Given the description of an element on the screen output the (x, y) to click on. 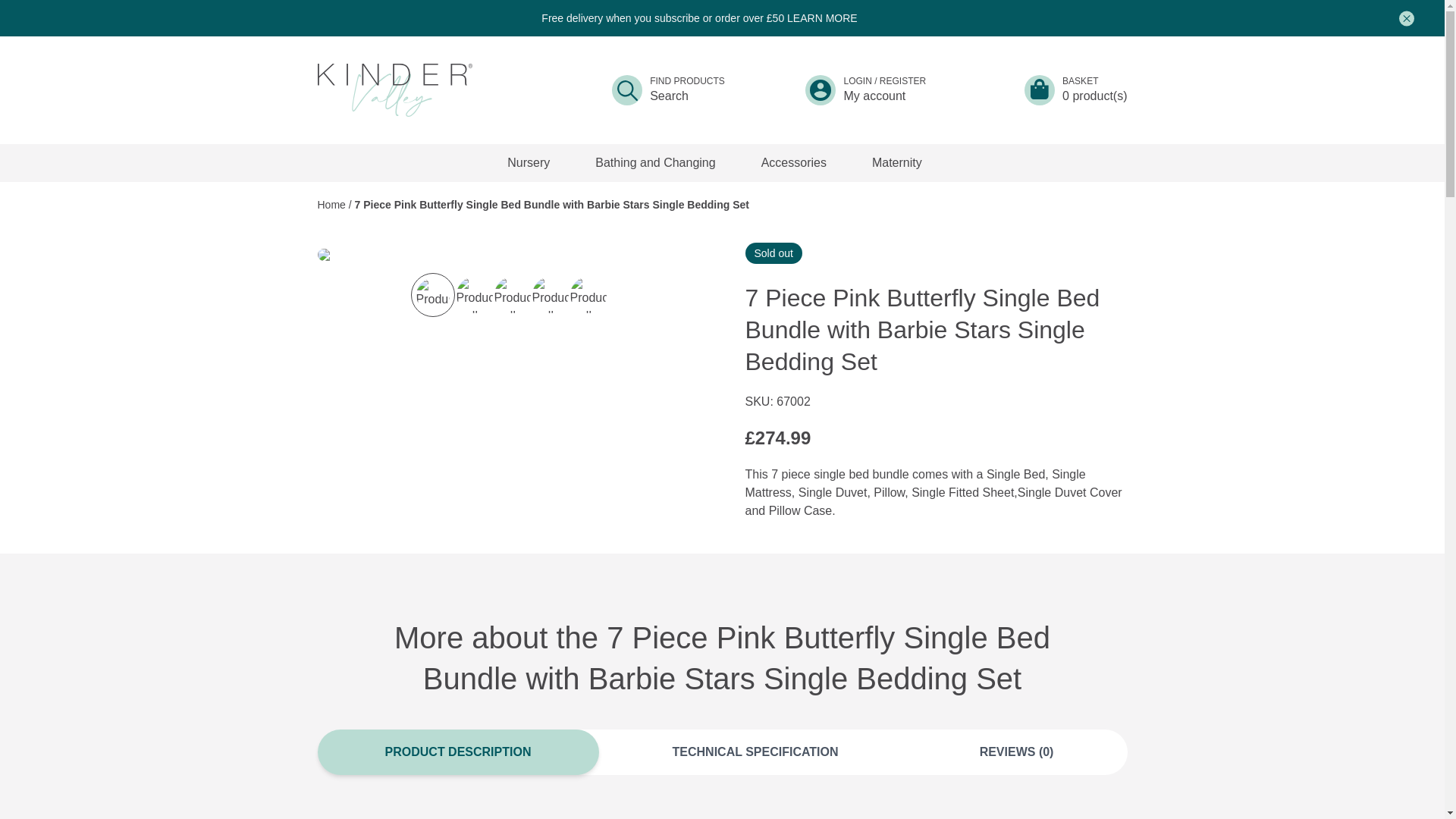
Accessories (793, 162)
Bathing and Changing (654, 162)
Maternity (897, 162)
Nursery (528, 162)
